Given the description of an element on the screen output the (x, y) to click on. 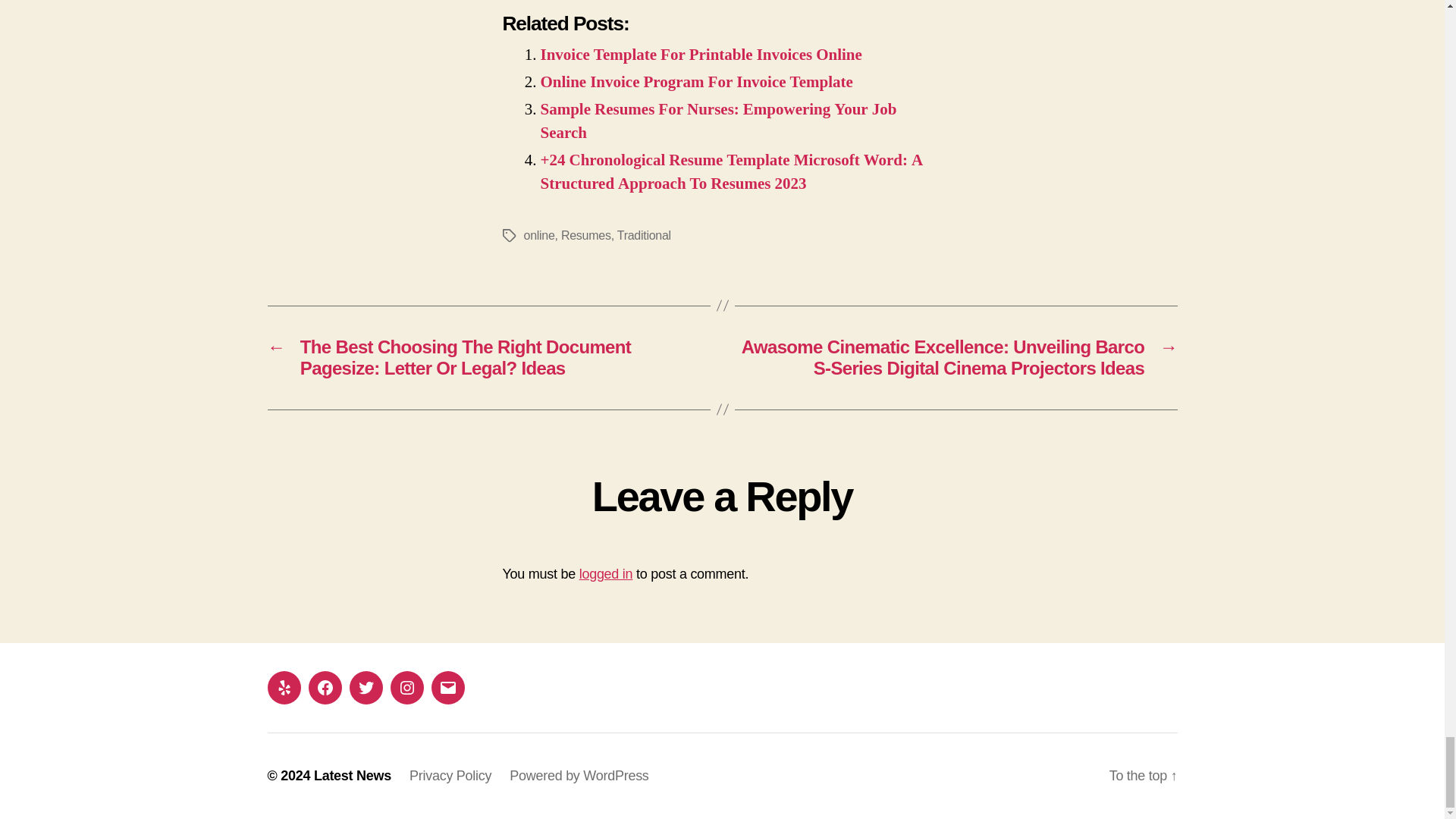
Resumes (585, 235)
Latest News (352, 775)
Powered by WordPress (578, 775)
Twitter (365, 687)
Online Invoice Program For Invoice Template (695, 82)
Privacy Policy (450, 775)
Facebook (323, 687)
Sample Resumes For Nurses: Empowering Your Job Search (718, 121)
Invoice Template For Printable Invoices Online (700, 55)
Sample Resumes For Nurses: Empowering Your Job Search (718, 121)
